Given the description of an element on the screen output the (x, y) to click on. 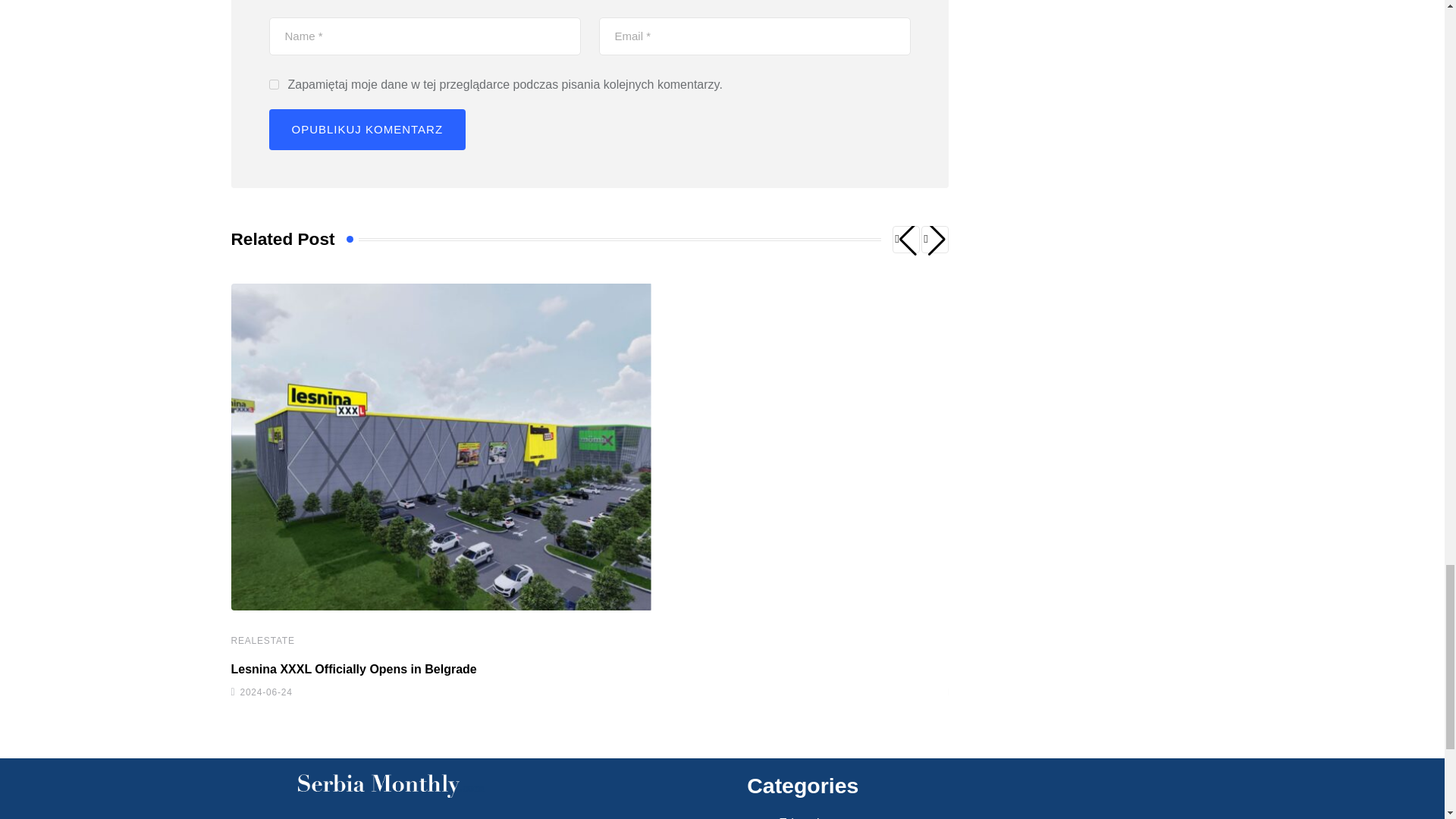
REALESTATE (262, 640)
Lesnina XXXL Officially Opens in Belgrade (353, 668)
yes (272, 84)
Opublikuj komentarz (366, 128)
Opublikuj komentarz (366, 128)
